Given the description of an element on the screen output the (x, y) to click on. 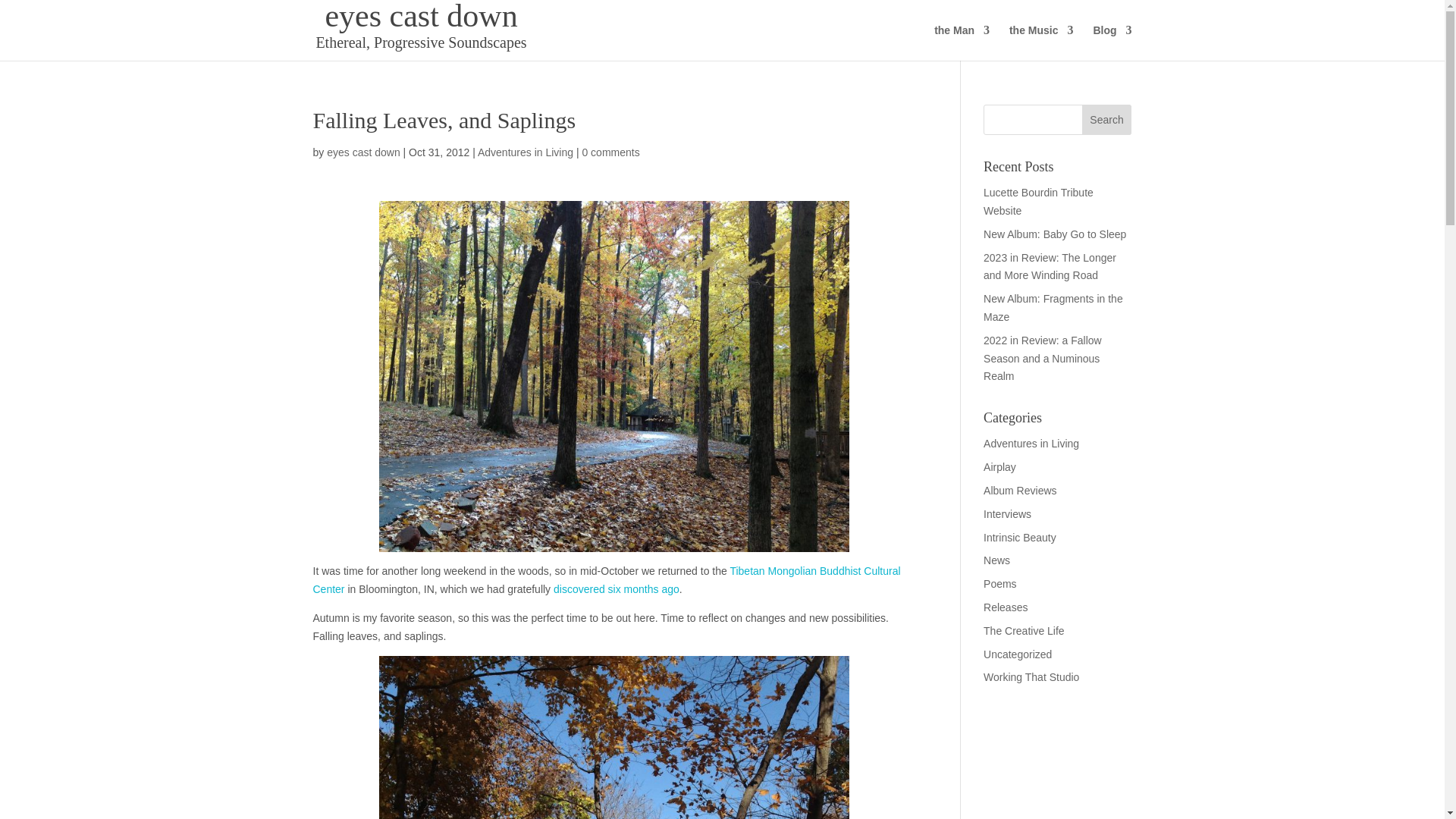
Adventures in Living (525, 152)
Search (1106, 119)
the Music (1041, 42)
2023 in Review: The Longer and More Winding Road (1050, 266)
Tibetan Mongolian Buddhist Cultural Center (606, 580)
New Album: Baby Go to Sleep (1054, 234)
discovered six months ago (616, 589)
eyes cast down (363, 152)
Distant Forest 2 (613, 737)
